Given the description of an element on the screen output the (x, y) to click on. 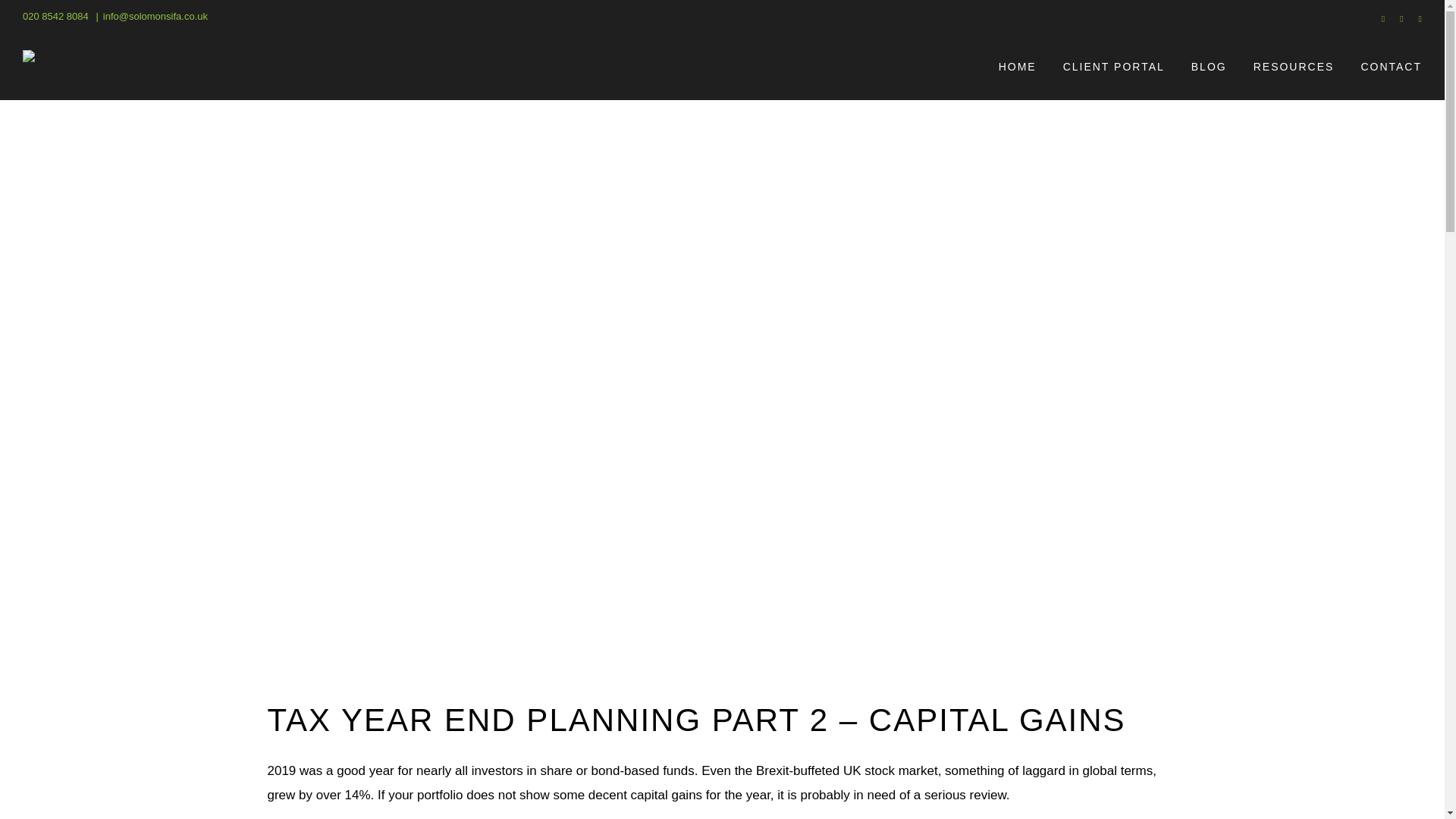
CONTACT (1390, 66)
CLIENT PORTAL (1113, 66)
RESOURCES (1294, 66)
